Given the description of an element on the screen output the (x, y) to click on. 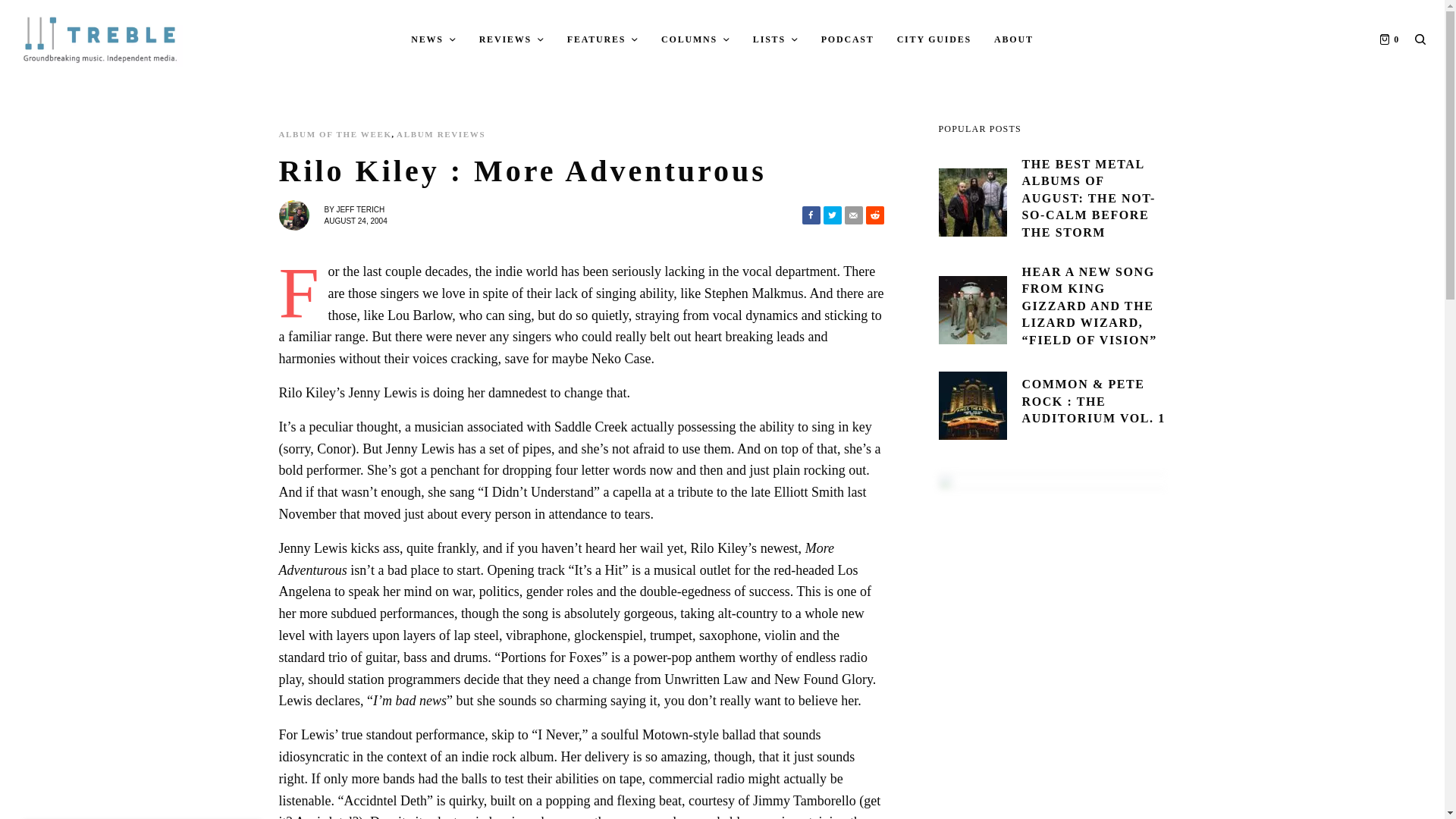
JEFF TERICH (360, 208)
Treble (100, 39)
CITY GUIDES (933, 39)
Posts by Jeff Terich (360, 208)
FEATURES (603, 39)
ALBUM OF THE WEEK (335, 134)
ALBUM REVIEWS (440, 134)
